Given the description of an element on the screen output the (x, y) to click on. 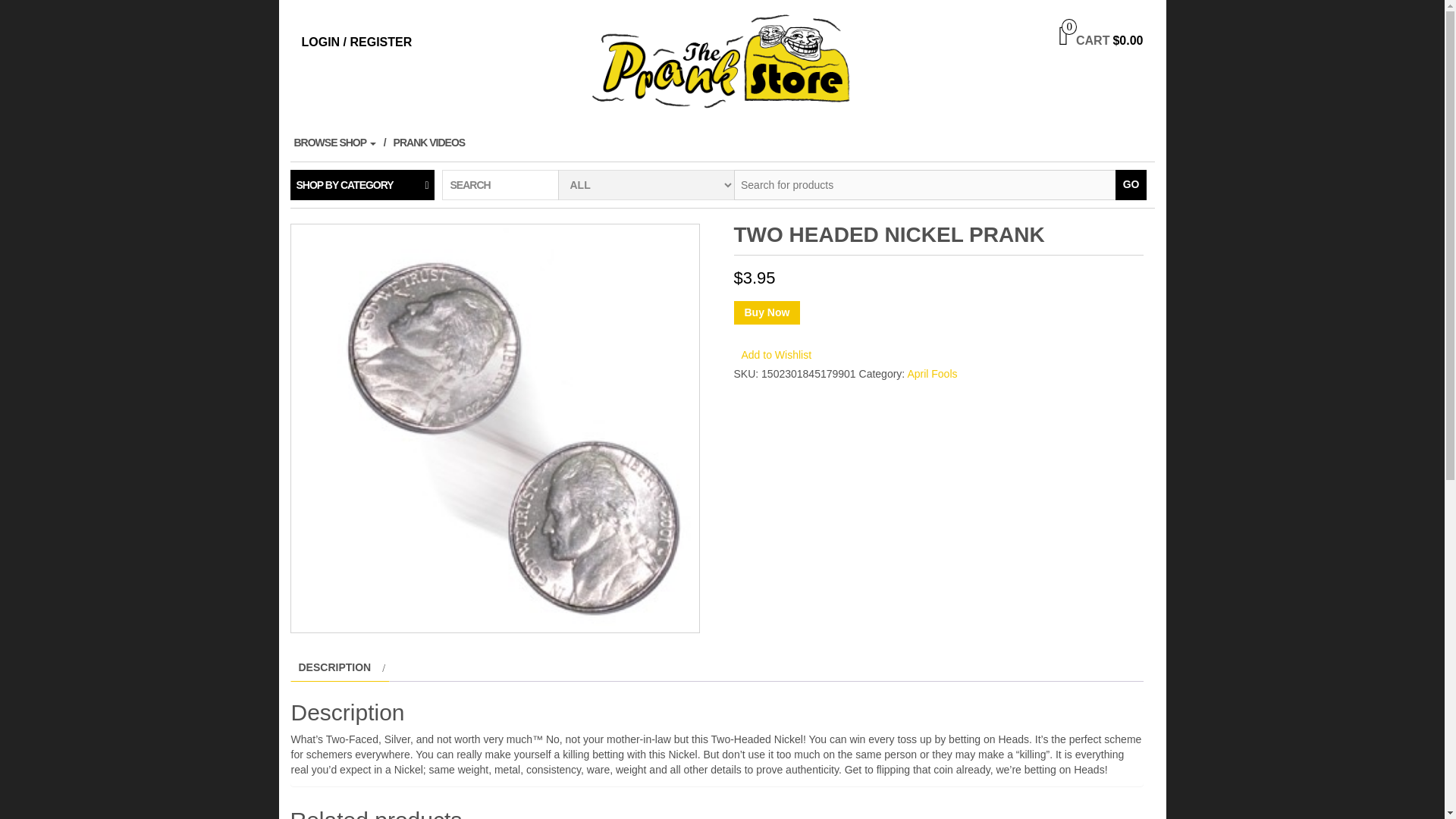
The Prank Store (721, 61)
Add to Wishlist (776, 354)
April Fools (931, 373)
SHOP BY CATEGORY (361, 184)
Prank Videos (433, 142)
View your shopping cart (1100, 40)
PRANK VIDEOS (433, 142)
Browse Shop (338, 142)
DESCRIPTION (334, 667)
Buy Now (766, 312)
BROWSE SHOP (338, 142)
GO (1131, 184)
